Given the description of an element on the screen output the (x, y) to click on. 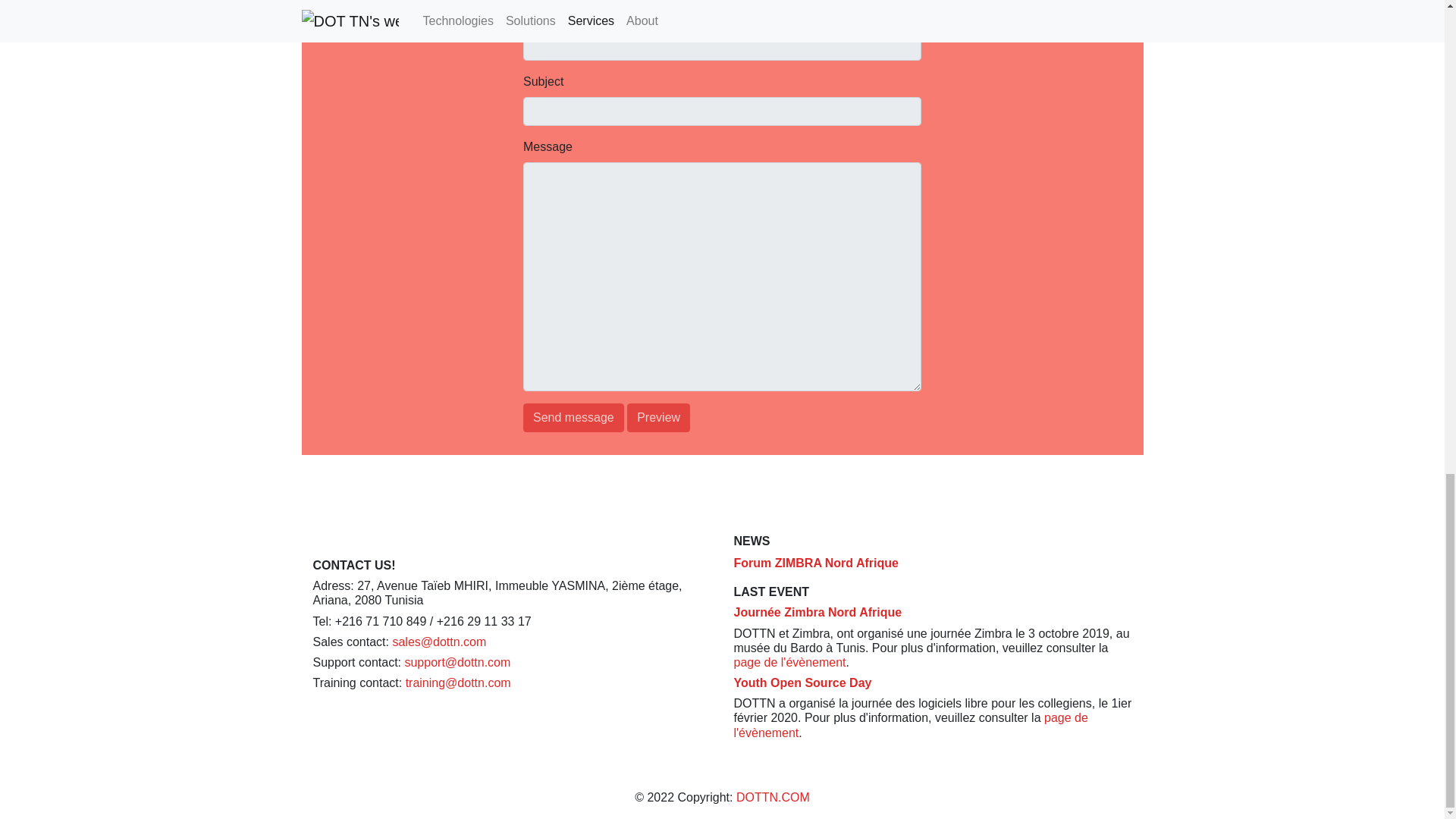
Preview (658, 417)
Send message (573, 417)
Youth Open Source Day (802, 682)
Forum ZIMBRA Nord Afrique (815, 562)
Preview (658, 417)
DOTTN.COM (772, 797)
Send message (573, 417)
